Given the description of an element on the screen output the (x, y) to click on. 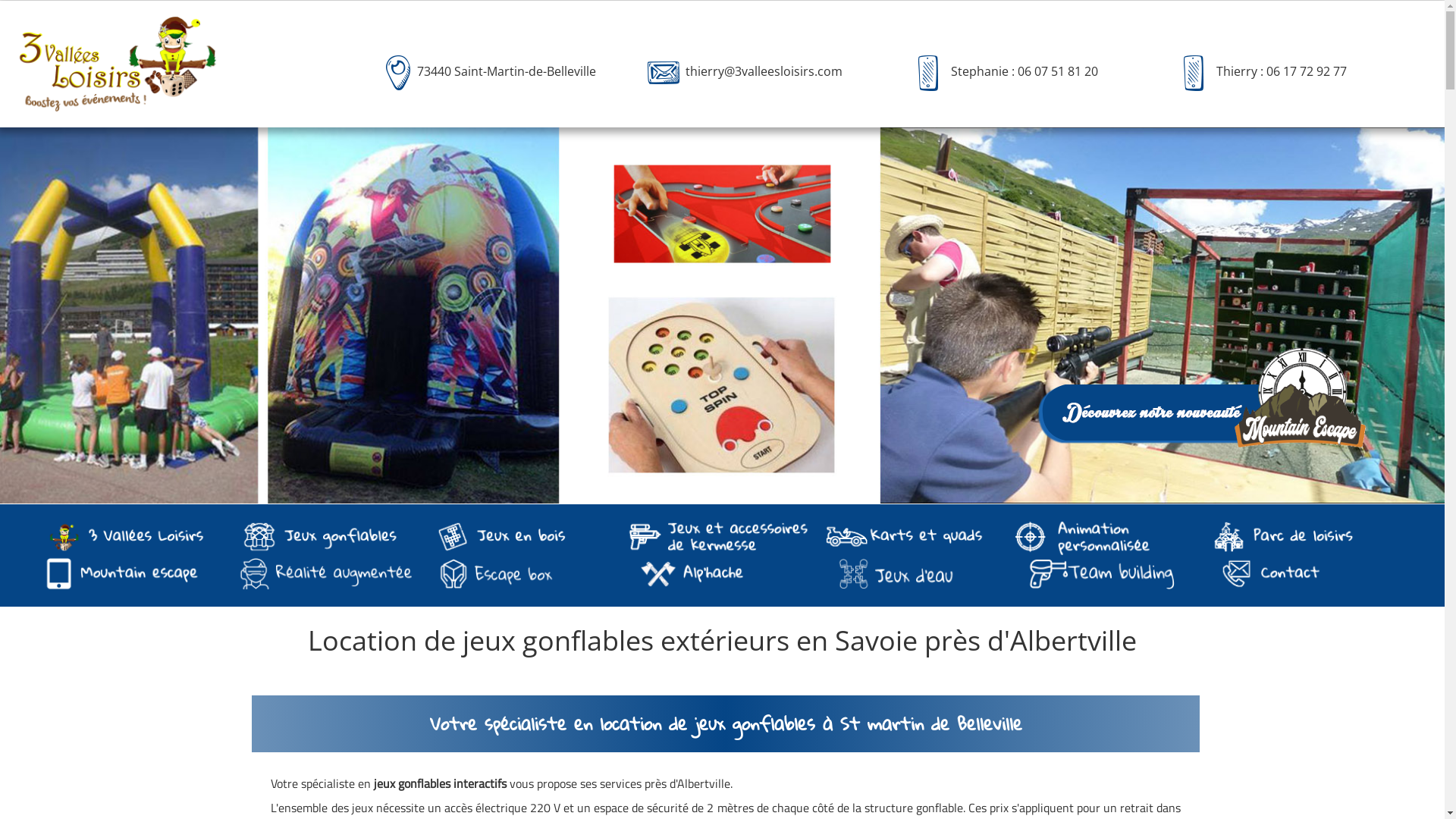
thierry@3valleesloisirs.com Element type: text (763, 71)
06 17 72 92 77 Element type: text (1304, 71)
06 07 51 81 20 Element type: text (1057, 71)
